Given the description of an element on the screen output the (x, y) to click on. 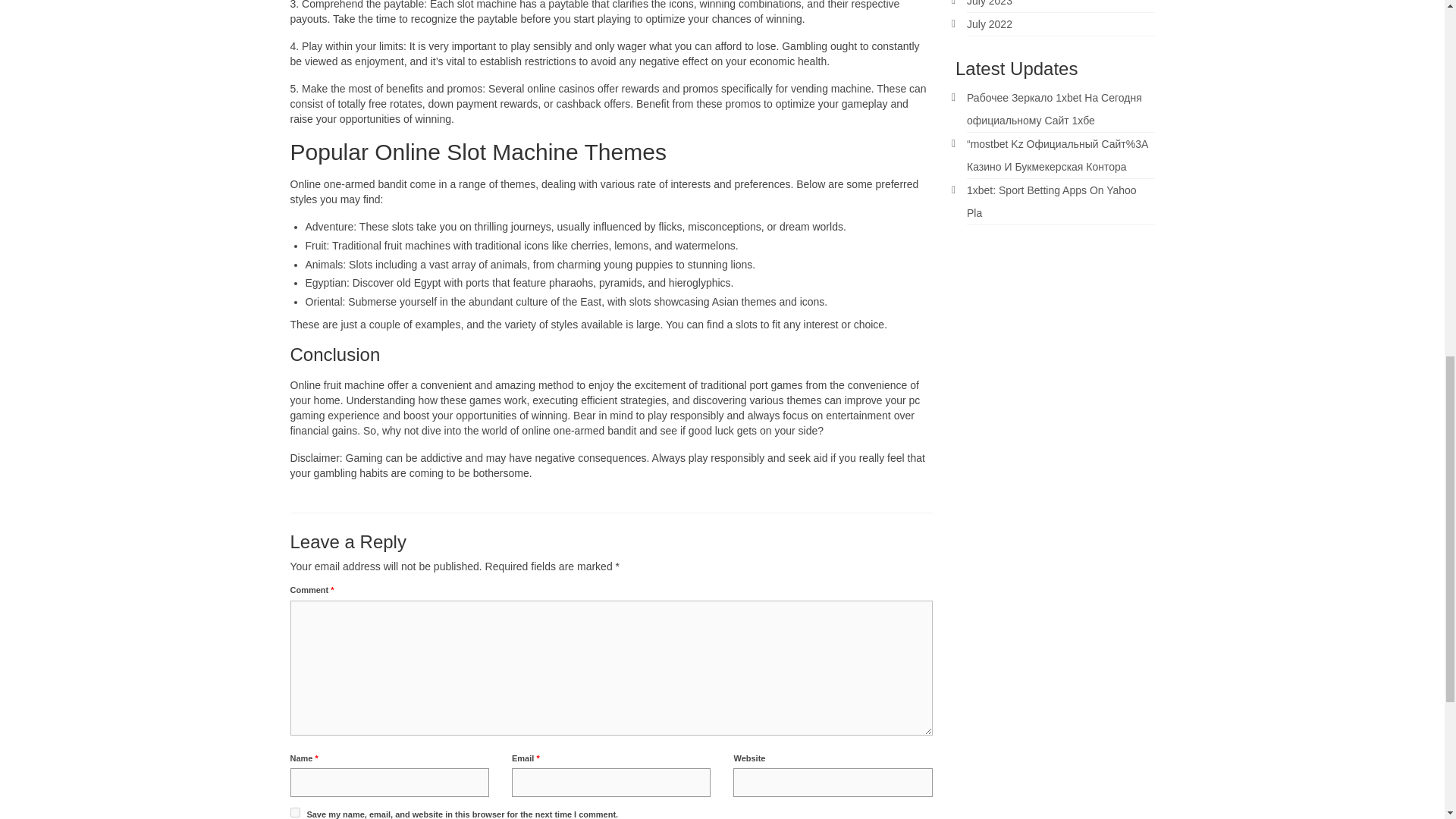
July 2023 (988, 3)
July 2022 (988, 24)
1xbet: Sport Betting Apps On Yahoo Pla (1051, 201)
yes (294, 812)
